Given the description of an element on the screen output the (x, y) to click on. 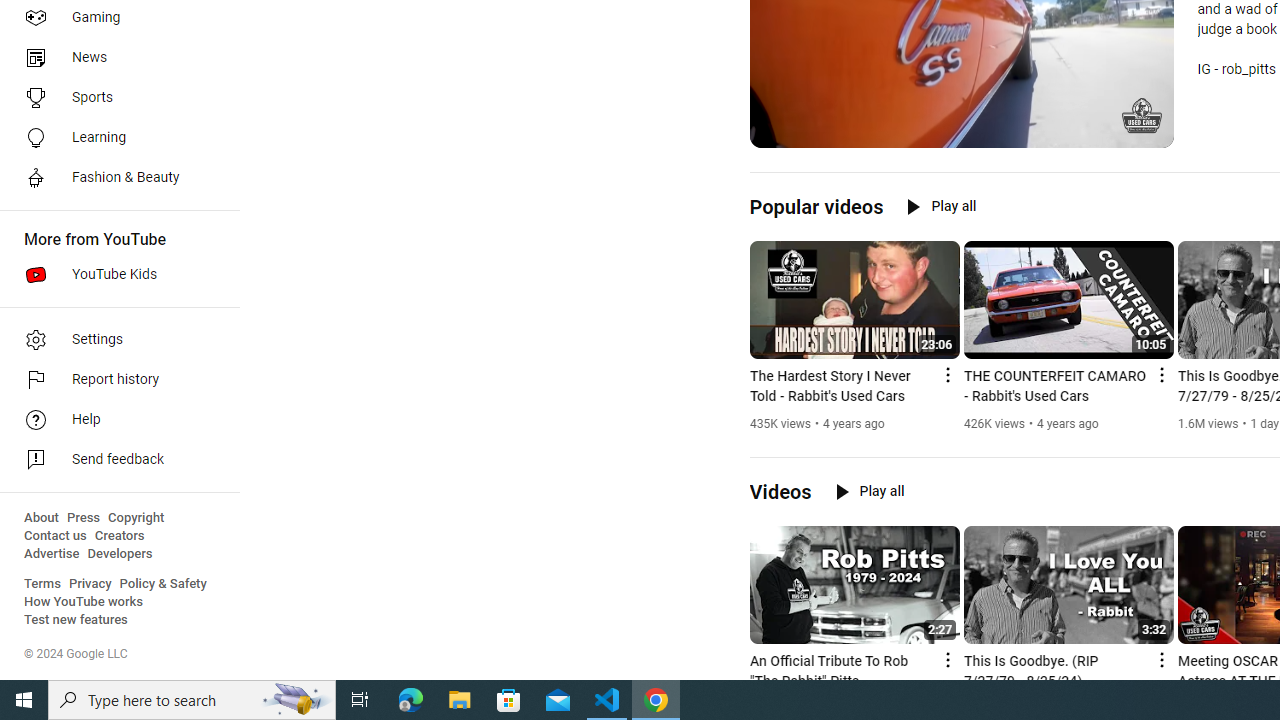
Videos (779, 492)
How YouTube works (83, 602)
Mute (m) (815, 130)
Learning (113, 137)
Press (83, 518)
Contact us (55, 536)
Pause (k) (779, 130)
Developers (120, 554)
